Given the description of an element on the screen output the (x, y) to click on. 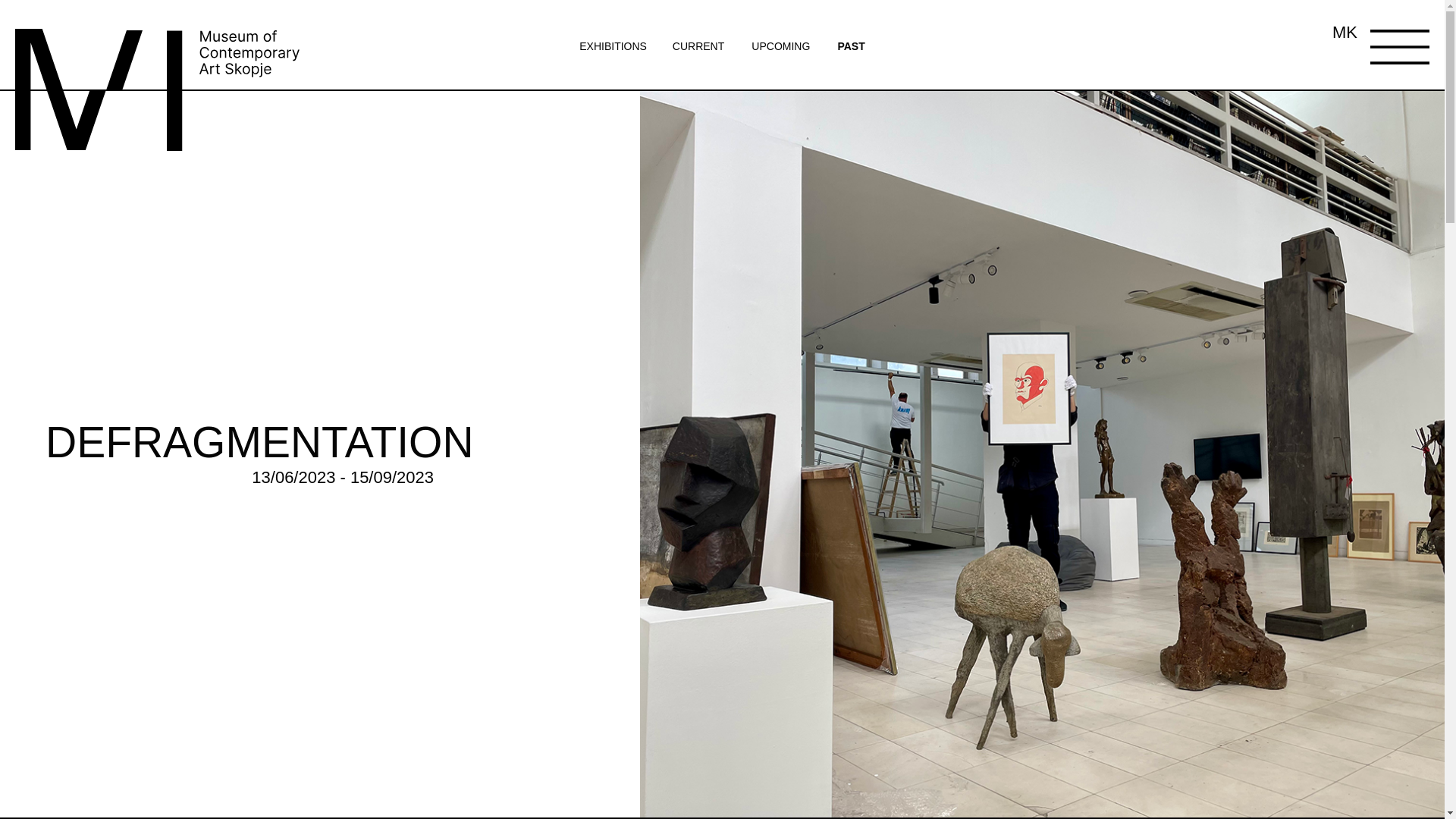
EXHIBITIONS (614, 46)
MK (1344, 33)
PAST (850, 46)
UPCOMING (780, 46)
CURRENT (697, 46)
